Given the description of an element on the screen output the (x, y) to click on. 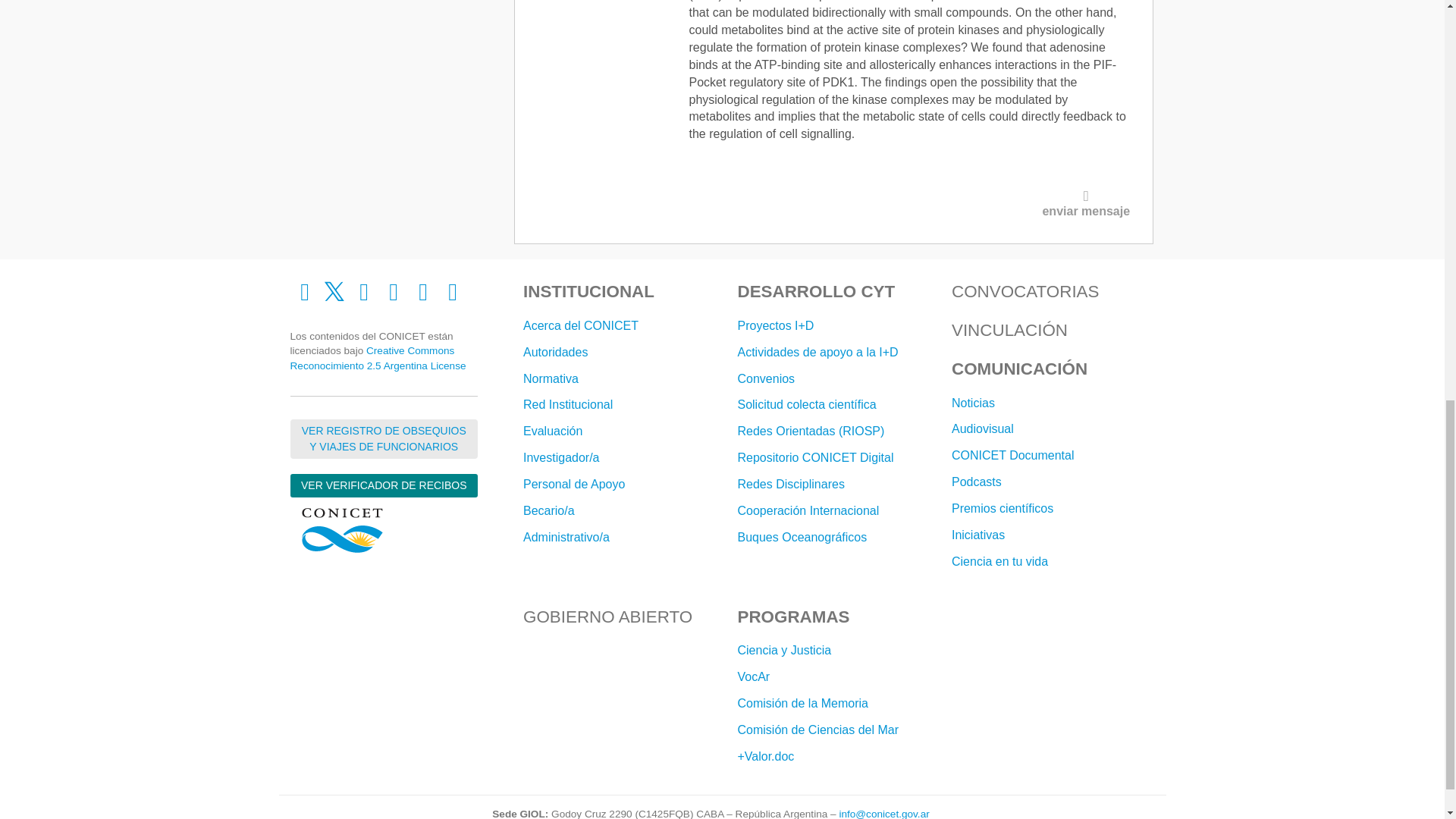
Ver verificador de recibos (383, 485)
Ver Registro de Obsequios y Viajes de Funcionarios (383, 438)
